Given the description of an element on the screen output the (x, y) to click on. 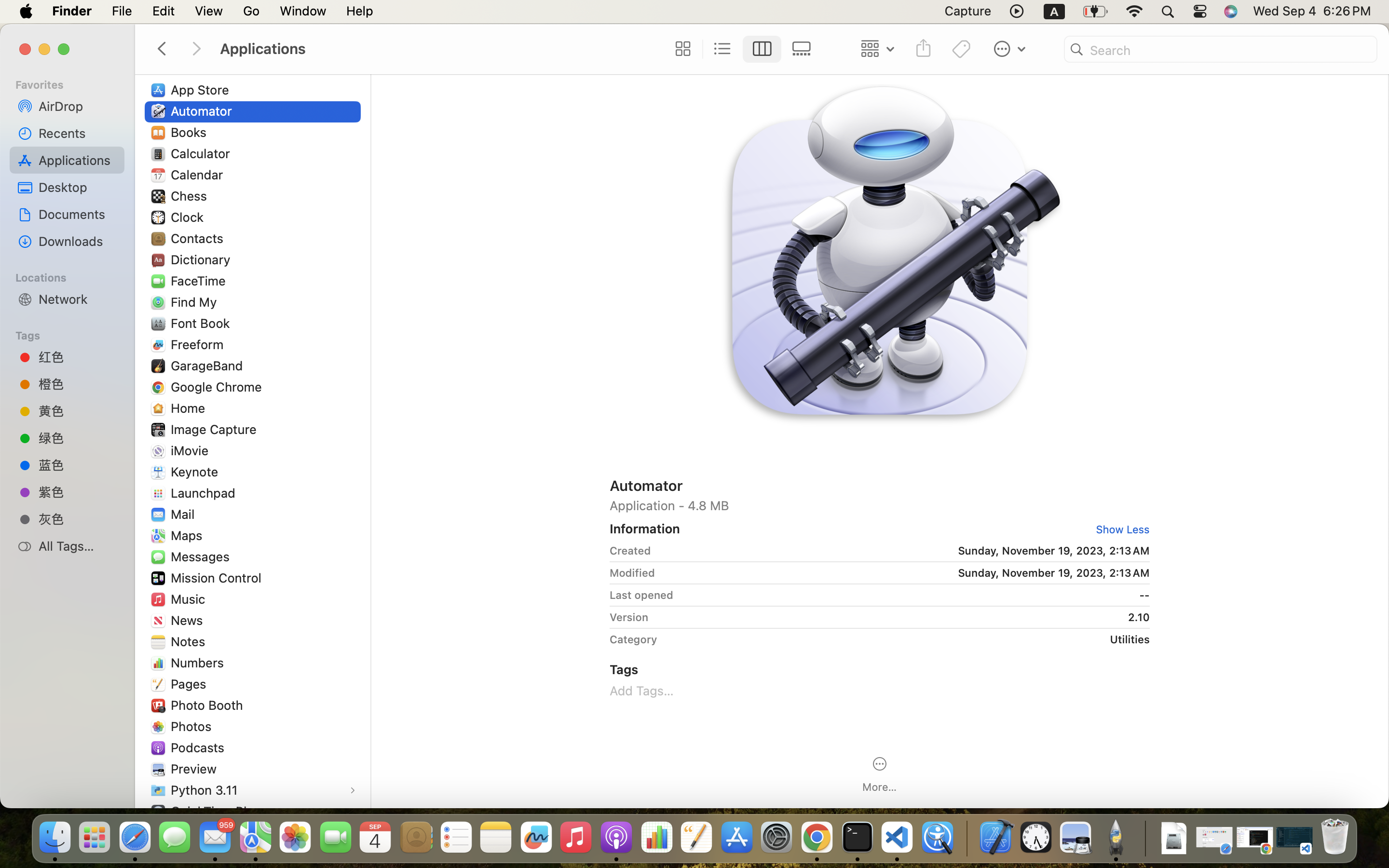
Tags Element type: AXStaticText (72, 334)
QuickTime Player Element type: AXTextField (222, 810)
红色 Element type: AXStaticText (77, 356)
1 Element type: AXRadioButton (762, 48)
Image Capture Element type: AXTextField (215, 428)
